Given the description of an element on the screen output the (x, y) to click on. 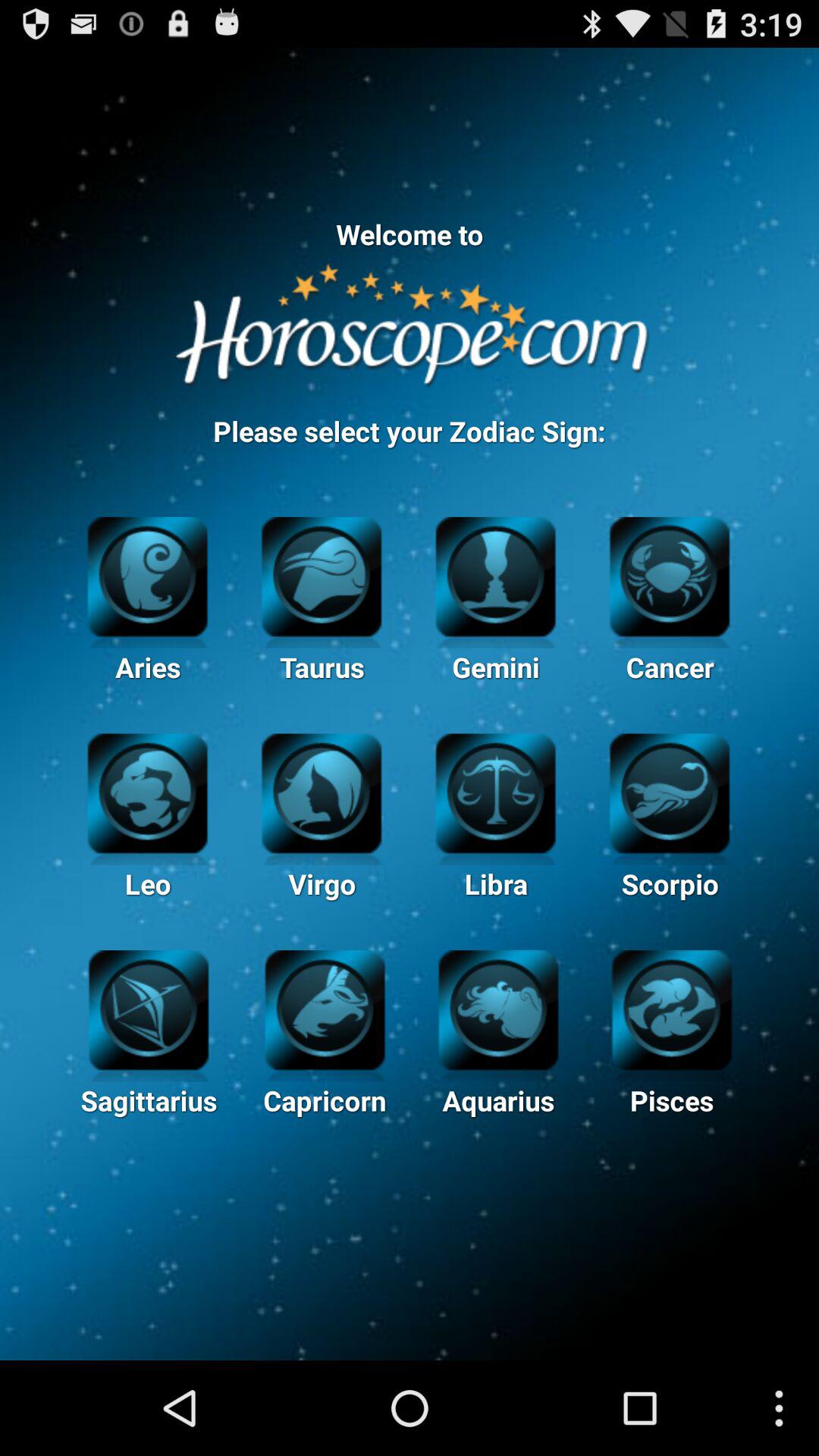
leo horoscope selection (147, 791)
